Given the description of an element on the screen output the (x, y) to click on. 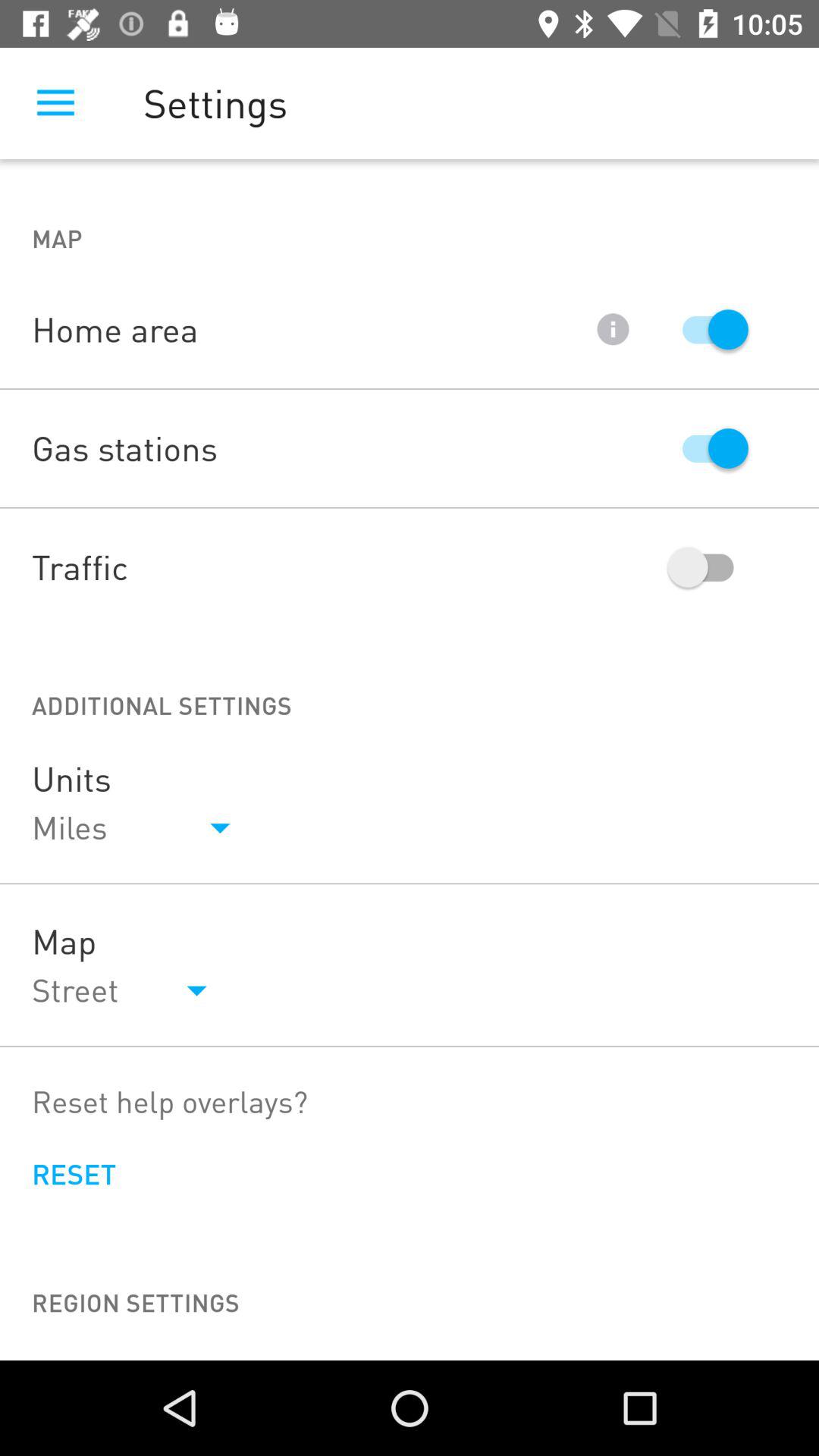
to choose the area option (707, 329)
